Given the description of an element on the screen output the (x, y) to click on. 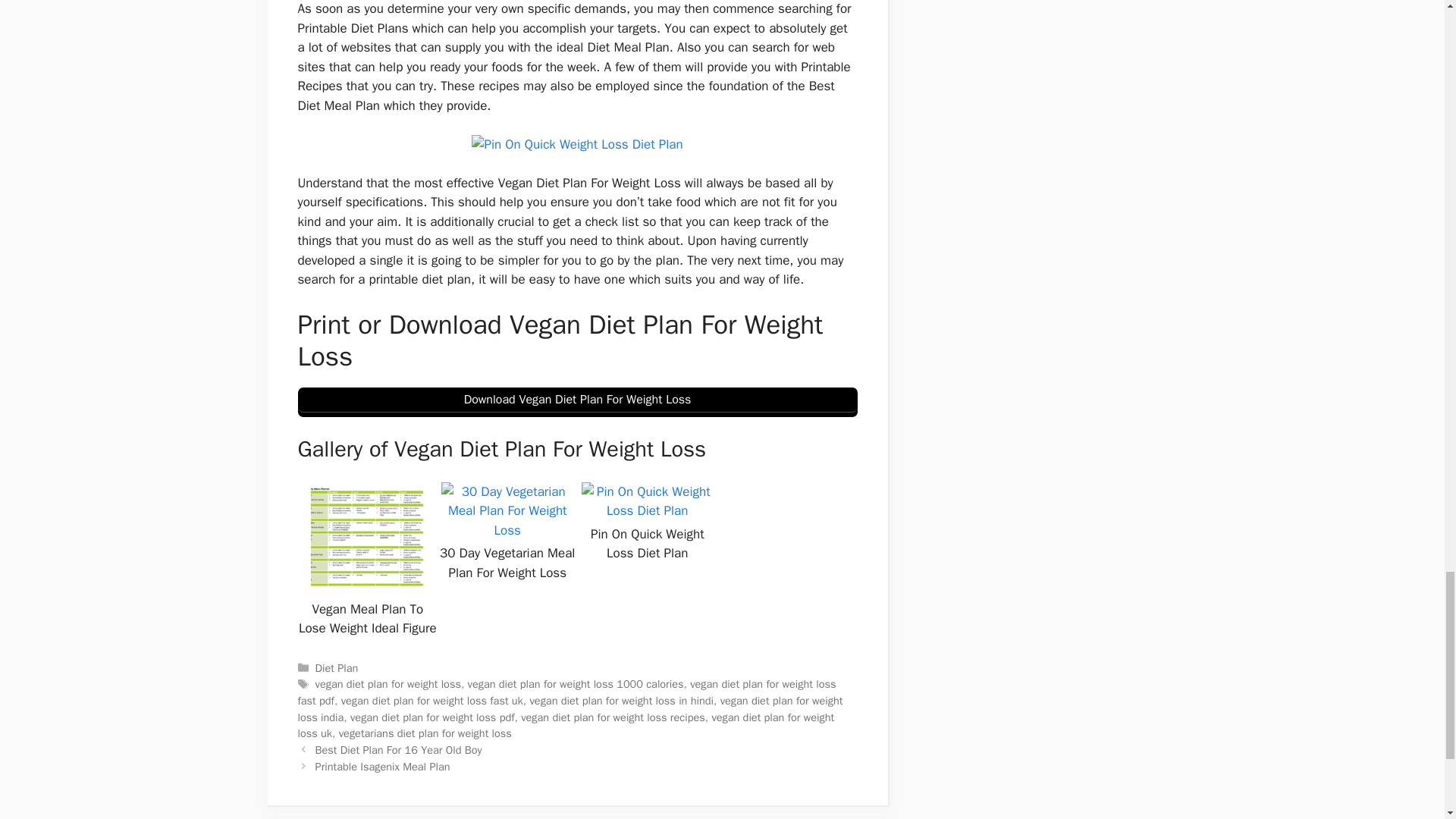
vegan diet plan for weight loss pdf (432, 716)
vegan diet plan for weight loss recipes (612, 716)
Printable Isagenix Meal Plan (382, 766)
Diet Plan (336, 667)
vegan diet plan for weight loss fast uk (431, 700)
Best Diet Plan For 16 Year Old Boy (398, 749)
vegan diet plan for weight loss 1000 calories (575, 684)
vegan diet plan for weight loss in hindi (621, 700)
vegan diet plan for weight loss (388, 684)
vegan diet plan for weight loss uk (565, 725)
